Given the description of an element on the screen output the (x, y) to click on. 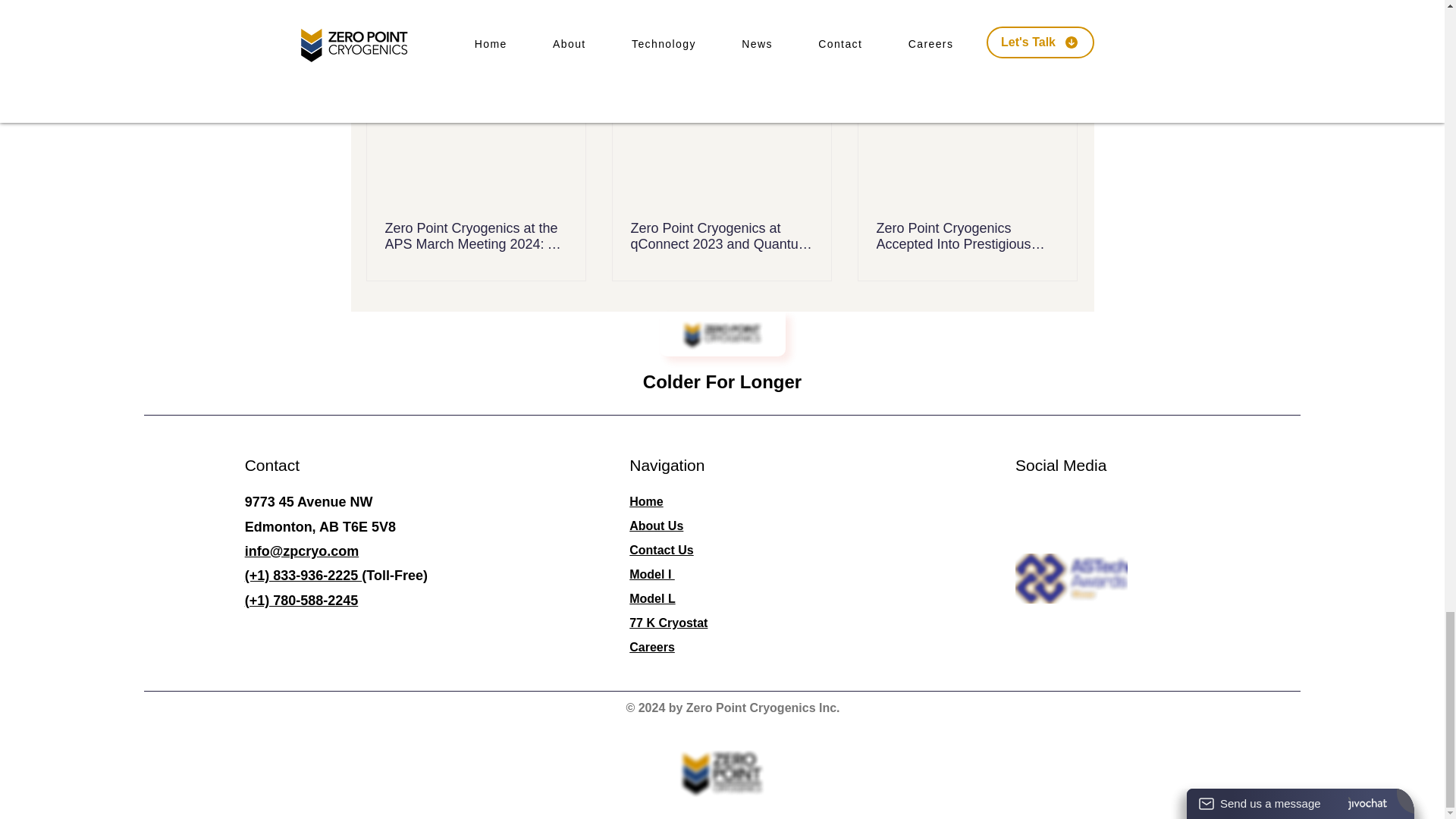
Model L (651, 598)
Home (645, 501)
About Us (655, 525)
Model I  (651, 574)
See All (1061, 52)
Contact Us (660, 549)
